Given the description of an element on the screen output the (x, y) to click on. 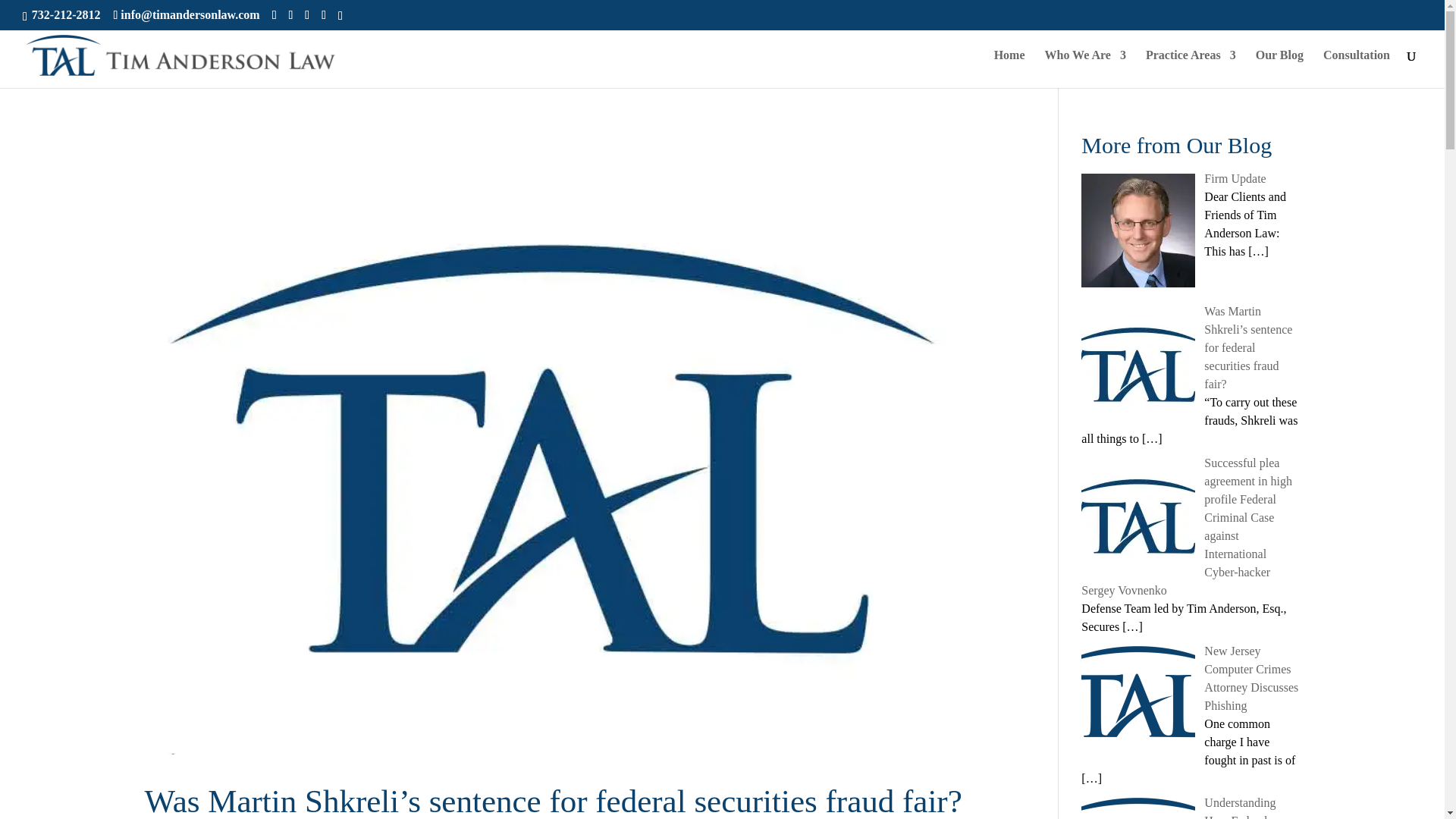
Practice Areas (1190, 68)
Consultation (1356, 68)
Who We Are (1085, 68)
Our Blog (1279, 68)
